Given the description of an element on the screen output the (x, y) to click on. 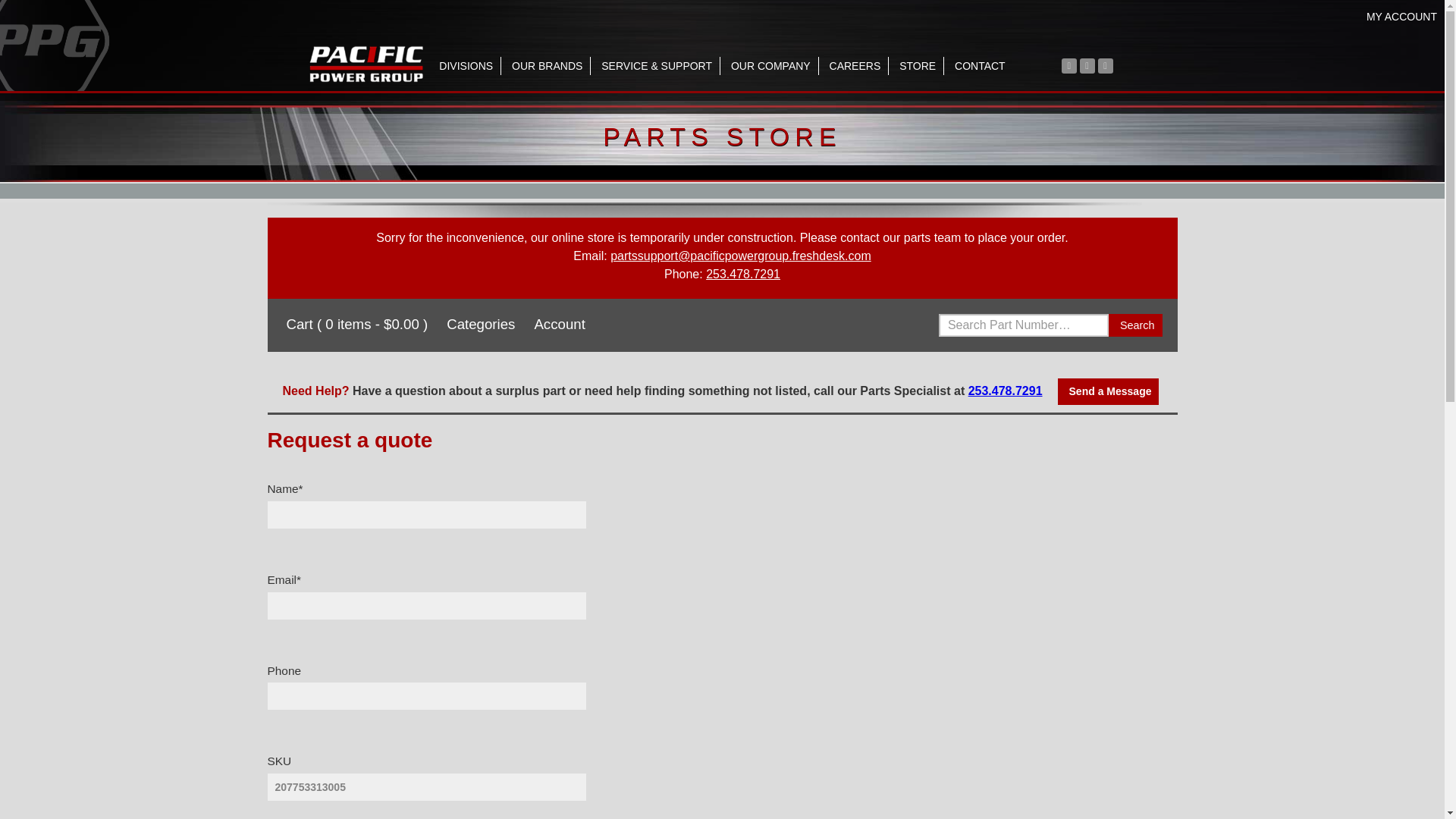
View your shopping cart (355, 324)
DIVISIONS (465, 65)
CAREERS (855, 65)
My Account (557, 324)
OUR COMPANY (770, 65)
207753313005 (425, 786)
253.478.7291 (743, 273)
OUR BRANDS (547, 65)
CONTACT (980, 65)
Categories (478, 324)
STORE (917, 65)
